Given the description of an element on the screen output the (x, y) to click on. 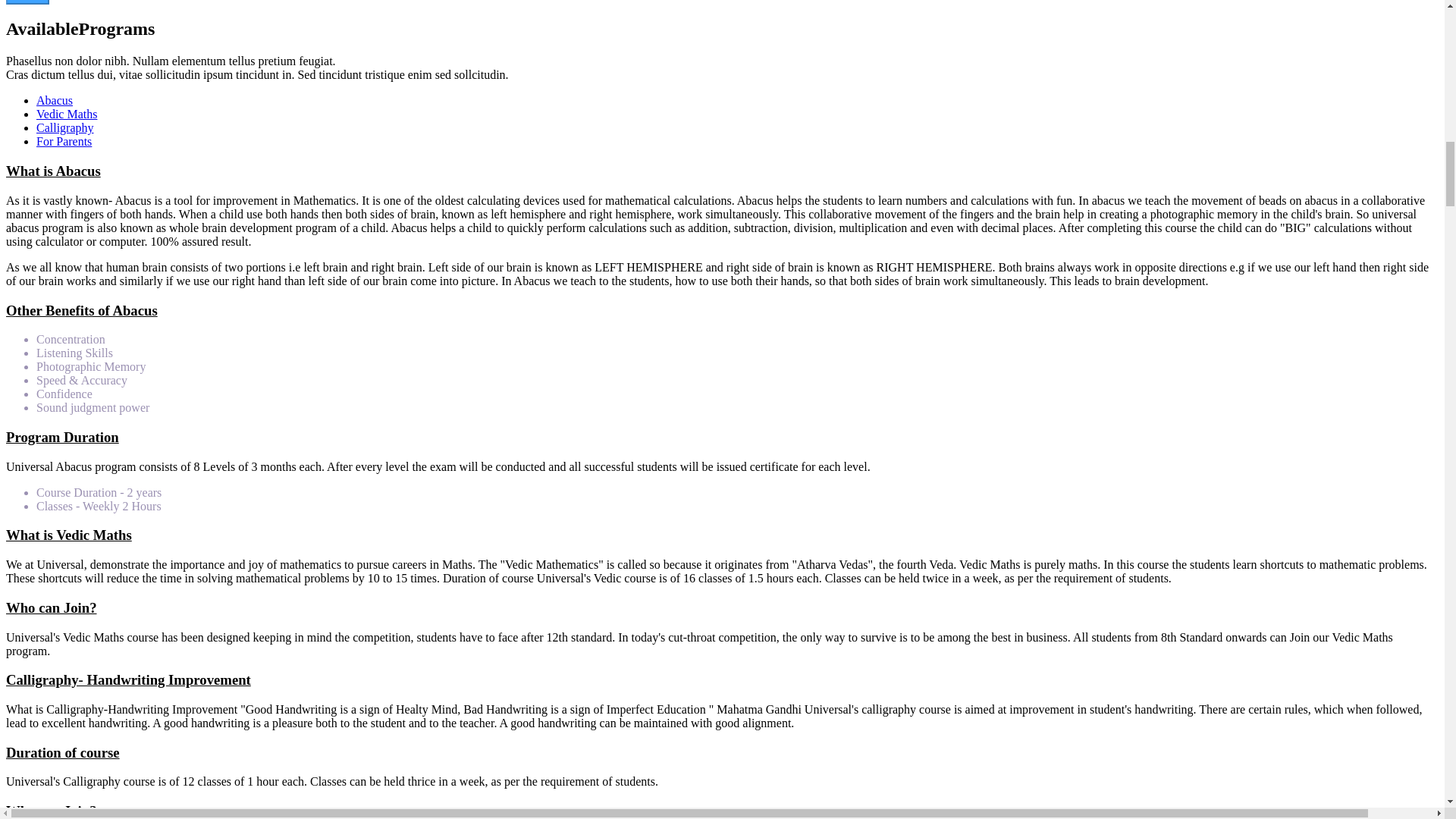
Submit (27, 2)
Abacus (54, 100)
Submit (27, 2)
Vedic Maths (66, 113)
For Parents (63, 141)
Calligraphy (65, 127)
